Given the description of an element on the screen output the (x, y) to click on. 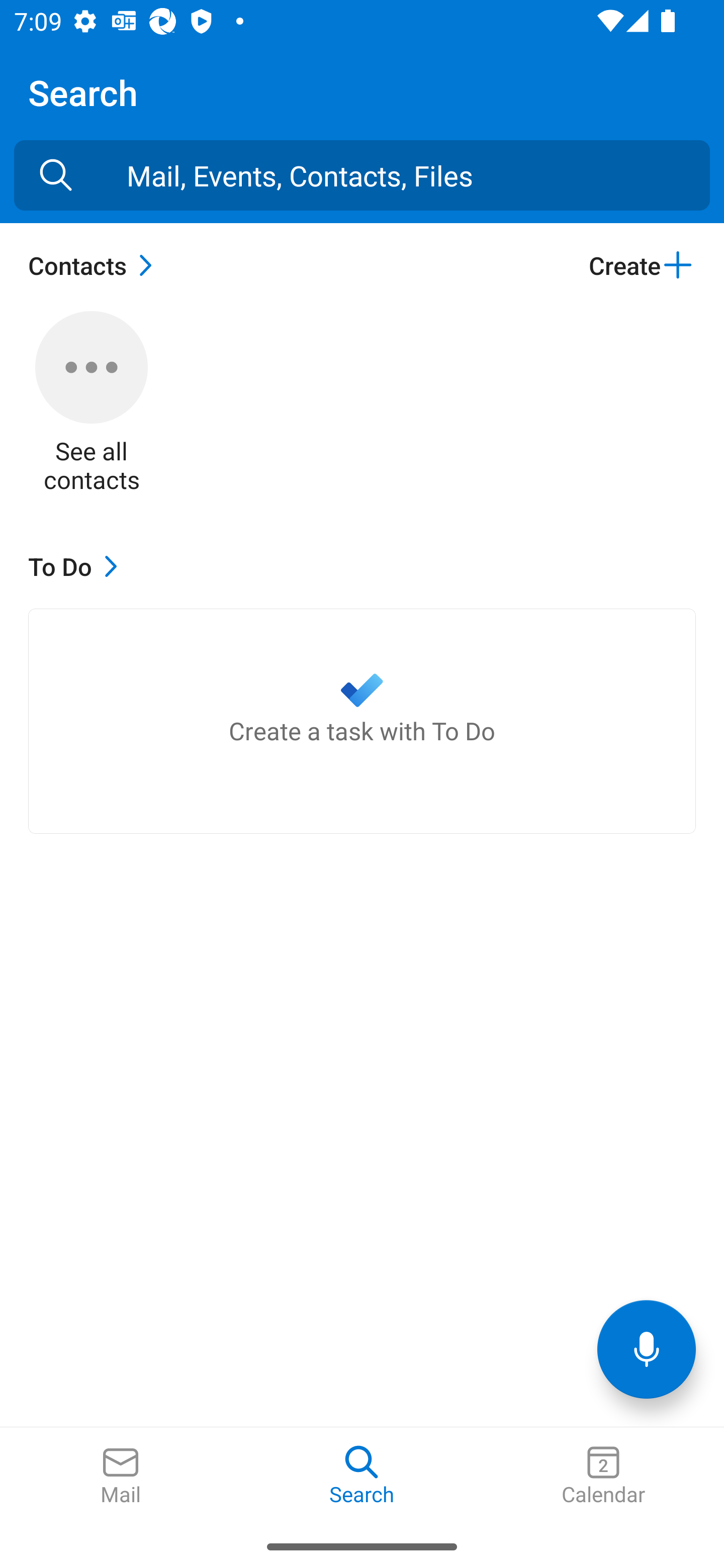
Search Mail, Events, Contacts, Files (55, 174)
Contacts (95, 264)
Create Create contact (641, 264)
See all contacts (91, 402)
To Do (77, 565)
Create a task with To Do (361, 721)
Voice Assistant (646, 1348)
Mail (120, 1475)
Calendar (603, 1475)
